Given the description of an element on the screen output the (x, y) to click on. 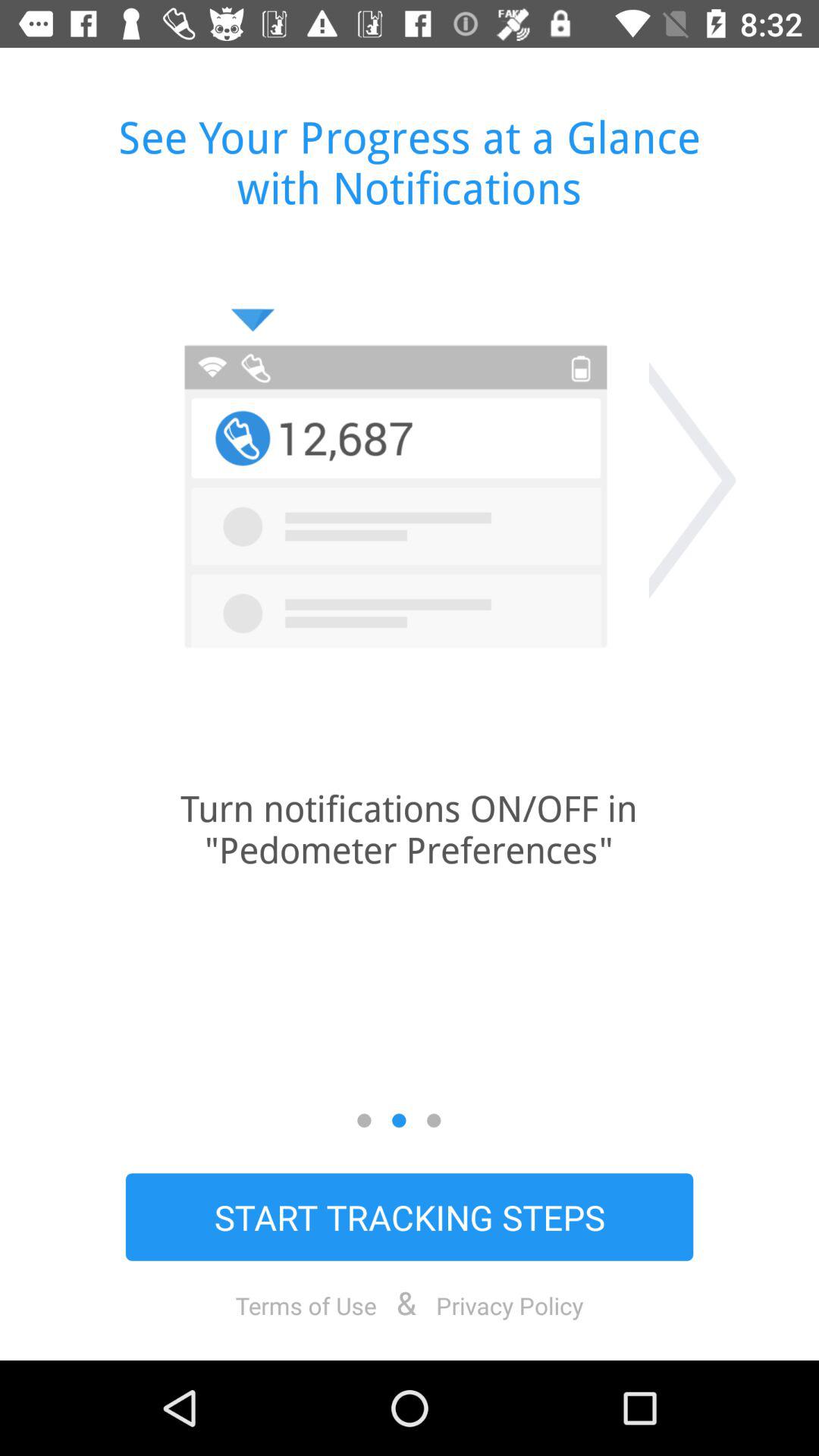
open item next to the & icon (305, 1305)
